Given the description of an element on the screen output the (x, y) to click on. 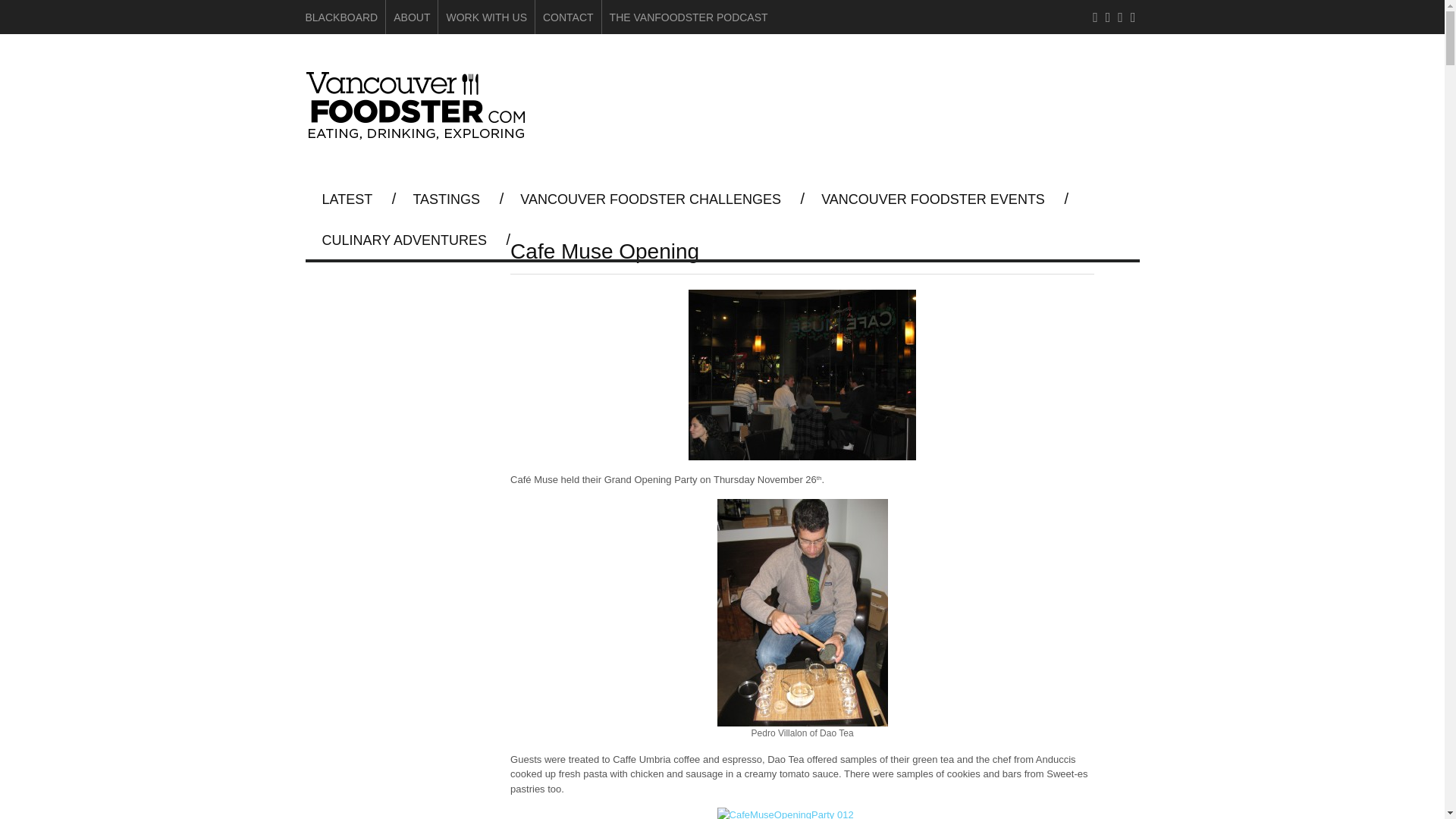
CafeMuseOpeningParty 008 (801, 374)
CafeMuseOpeningParty 012 (802, 813)
WORK WITH US (486, 17)
VANCOUVER FOODSTER CHALLENGES (650, 199)
VANCOUVER FOODSTER EVENTS (932, 199)
LATEST (346, 199)
ABOUT (411, 17)
THE VANFOODSTER PODCAST (689, 17)
BLACKBOARD (340, 17)
CONTACT (568, 17)
CULINARY ADVENTURES (403, 240)
TASTINGS (445, 199)
Vancouver Foodster (418, 132)
